Given the description of an element on the screen output the (x, y) to click on. 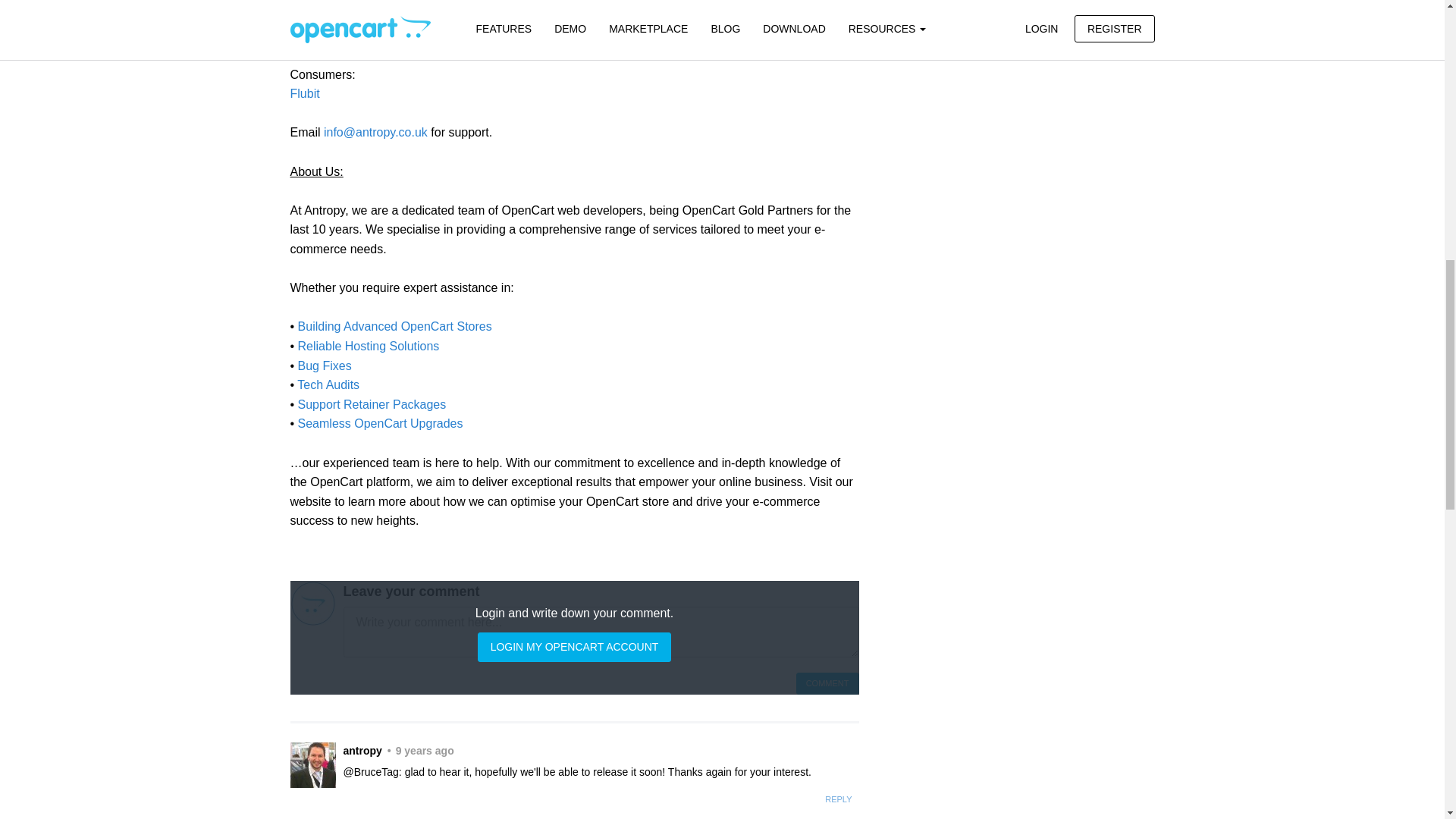
Weflubit (311, 34)
Bug Fixes (325, 365)
Building Advanced OpenCart Stores (393, 326)
LOGIN MY OPENCART ACCOUNT (574, 646)
antropy (311, 764)
Flubit (303, 92)
Tech Audits (328, 384)
Seamless OpenCart Upgrades (380, 422)
Support Retainer Packages (372, 404)
Reliable Hosting Solutions (368, 345)
